Given the description of an element on the screen output the (x, y) to click on. 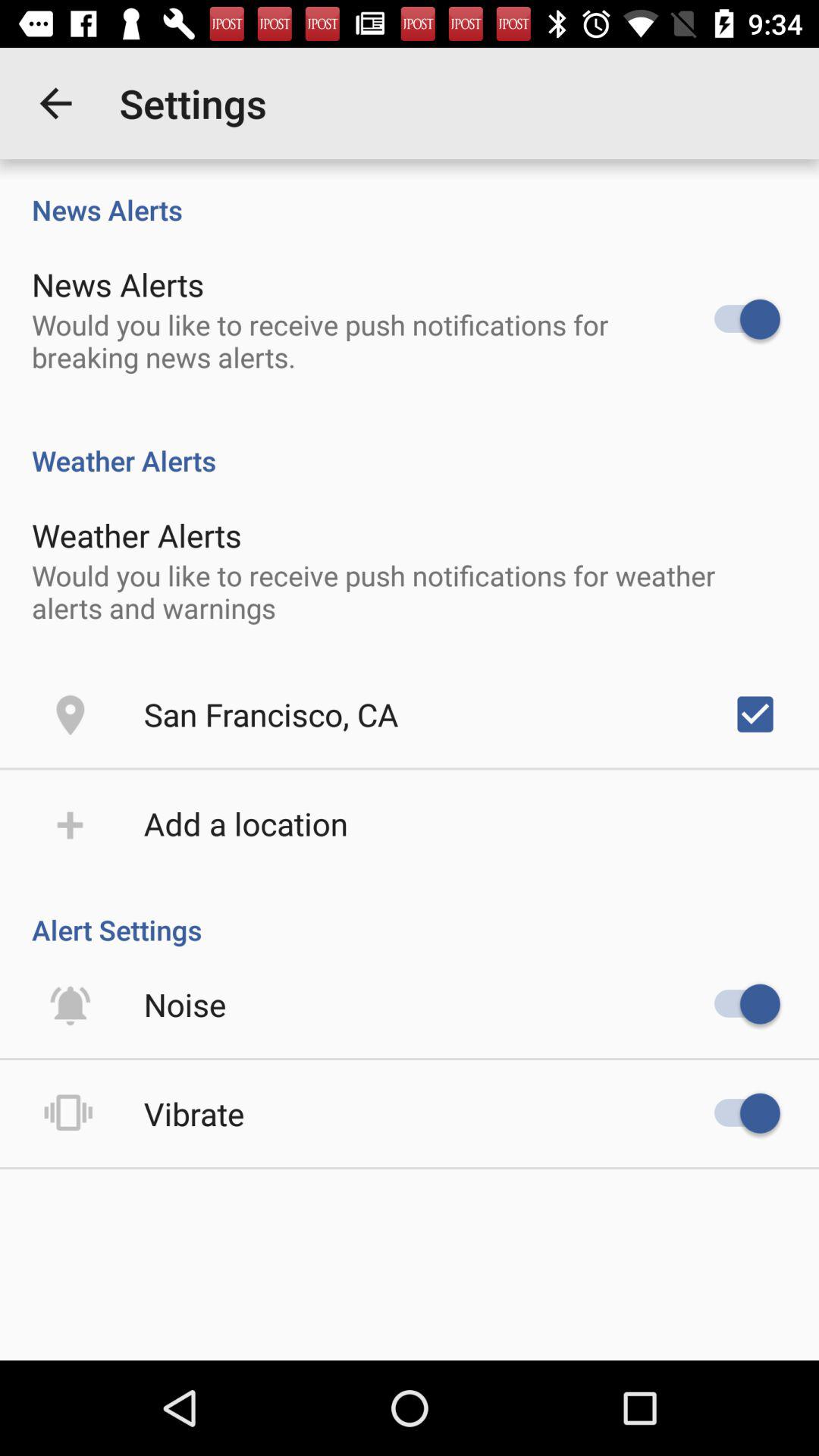
select the add a location icon (245, 823)
